Given the description of an element on the screen output the (x, y) to click on. 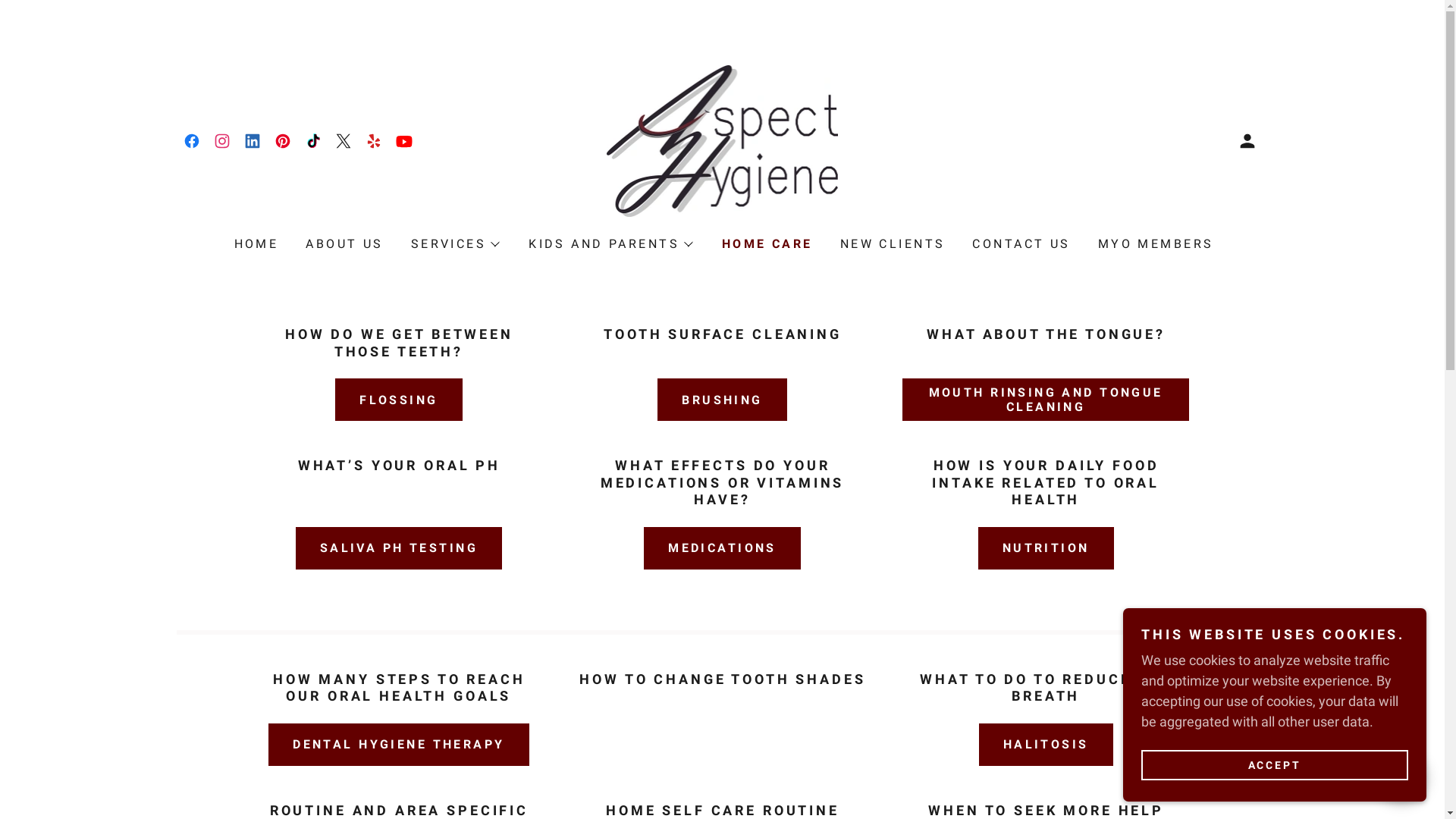
Aspect Hygiene Element type: hover (722, 139)
FLOSSING Element type: text (398, 399)
NUTRITION Element type: text (1045, 547)
BRUSHING Element type: text (721, 399)
DENTAL HYGIENE THERAPY Element type: text (398, 744)
MEDICATIONS Element type: text (721, 547)
HOME CARE Element type: text (765, 244)
ACCEPT Element type: text (1274, 764)
MOUTH RINSING AND TONGUE CLEANING Element type: text (1045, 399)
HALITOSIS Element type: text (1046, 744)
SALIVA PH TESTING Element type: text (398, 547)
CONTACT US Element type: text (1019, 243)
SERVICES Element type: text (454, 244)
MYO MEMBERS Element type: text (1154, 243)
HOME Element type: text (254, 243)
ABOUT US Element type: text (342, 243)
KIDS AND PARENTS Element type: text (609, 244)
NEW CLIENTS Element type: text (891, 243)
